Given the description of an element on the screen output the (x, y) to click on. 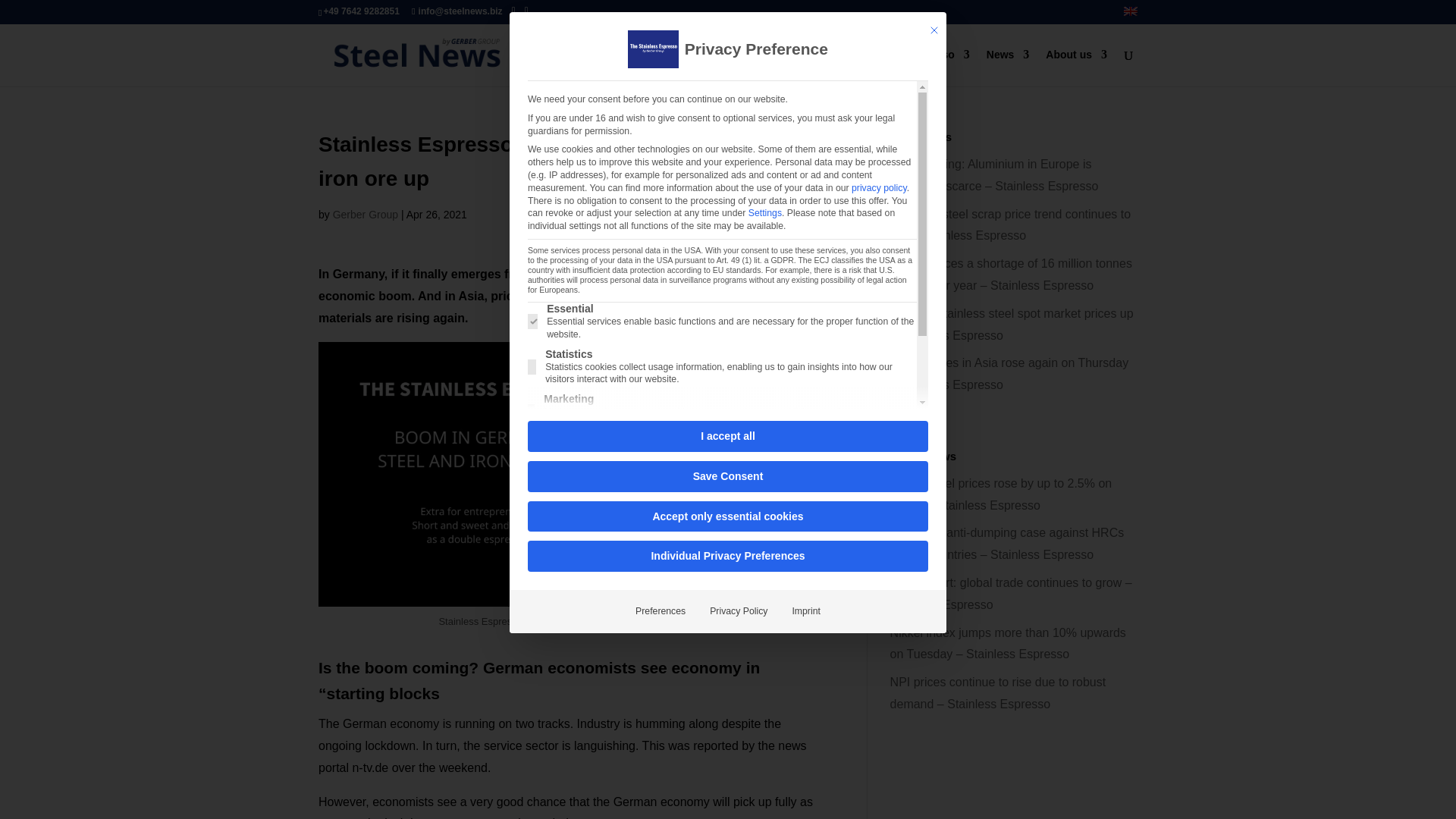
Stainless Espresso (913, 67)
Posts by Gerber Group (365, 214)
News (1008, 67)
Gerber Group (365, 214)
Stainless Espresso: Boom in Germany, steel and iron ore up 1 (570, 474)
About us (1075, 67)
